Given the description of an element on the screen output the (x, y) to click on. 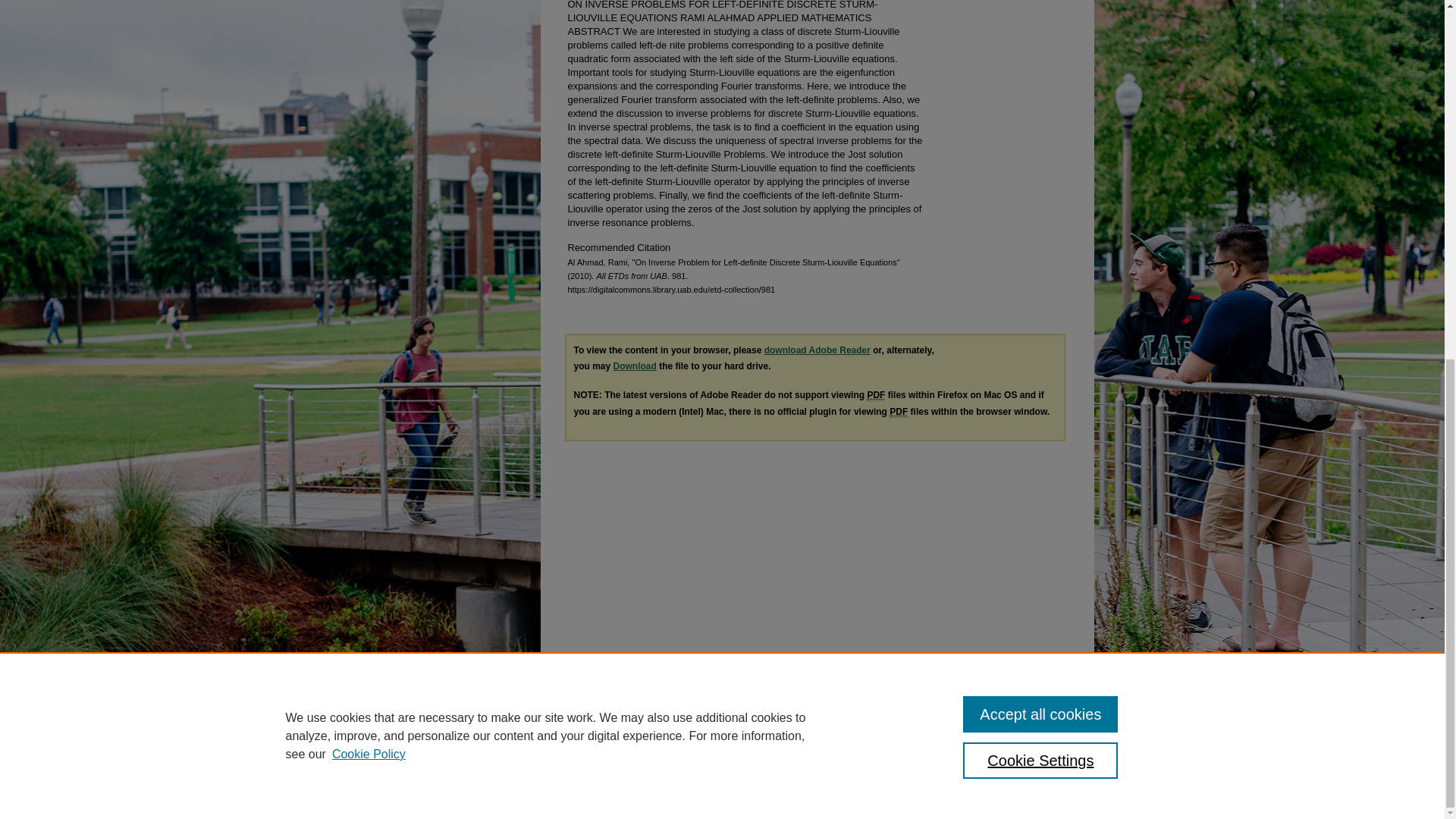
Download (634, 366)
Portable Document Format (898, 411)
download Adobe Reader (817, 349)
Portable Document Format (875, 395)
Adobe - Adobe Reader download (817, 349)
